Given the description of an element on the screen output the (x, y) to click on. 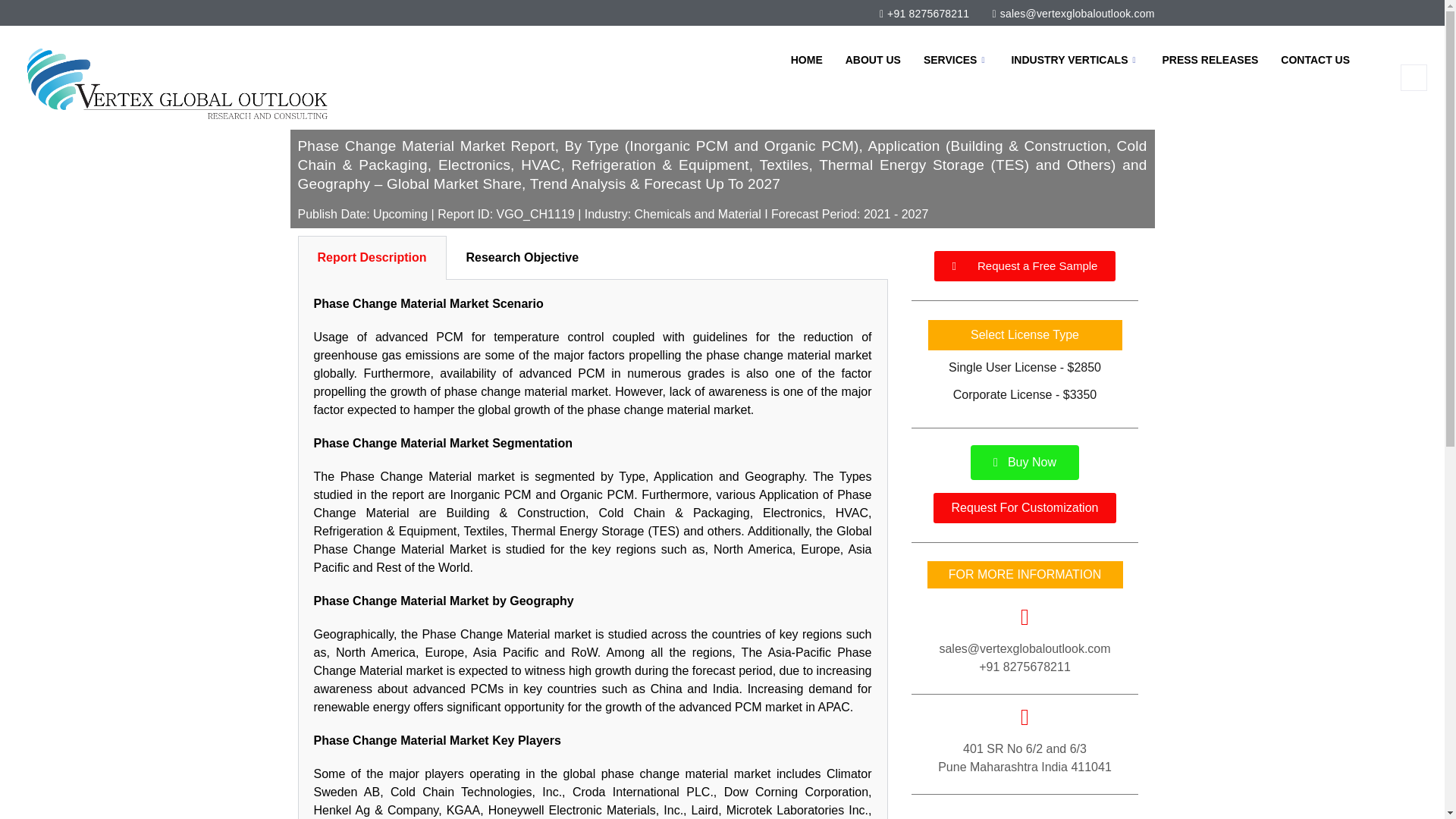
ABOUT US (873, 59)
Request For Customization (1024, 508)
Buy Now (1024, 462)
INDUSTRY VERTICALS (1074, 59)
Request a Free Sample (1025, 265)
CONTACT US (1315, 59)
HOME (806, 59)
SERVICES (956, 59)
PRESS RELEASES (1210, 59)
